Given the description of an element on the screen output the (x, y) to click on. 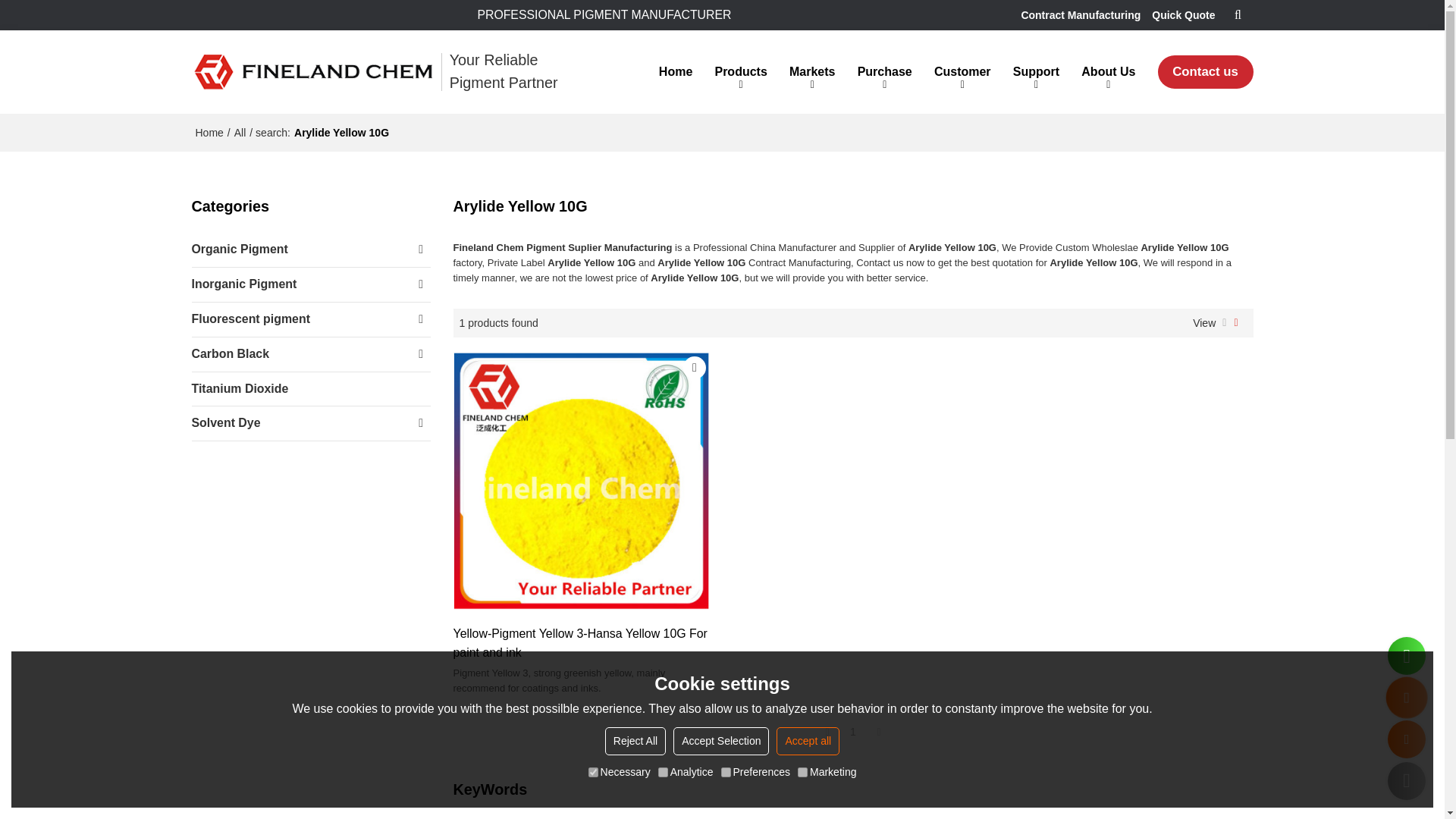
on (725, 772)
on (593, 772)
on (663, 772)
Quick Quote (1183, 14)
Contract Manufacturing (1080, 14)
on (802, 772)
Contract Manufacturing (1080, 14)
Quick Quote (1183, 14)
